Given the description of an element on the screen output the (x, y) to click on. 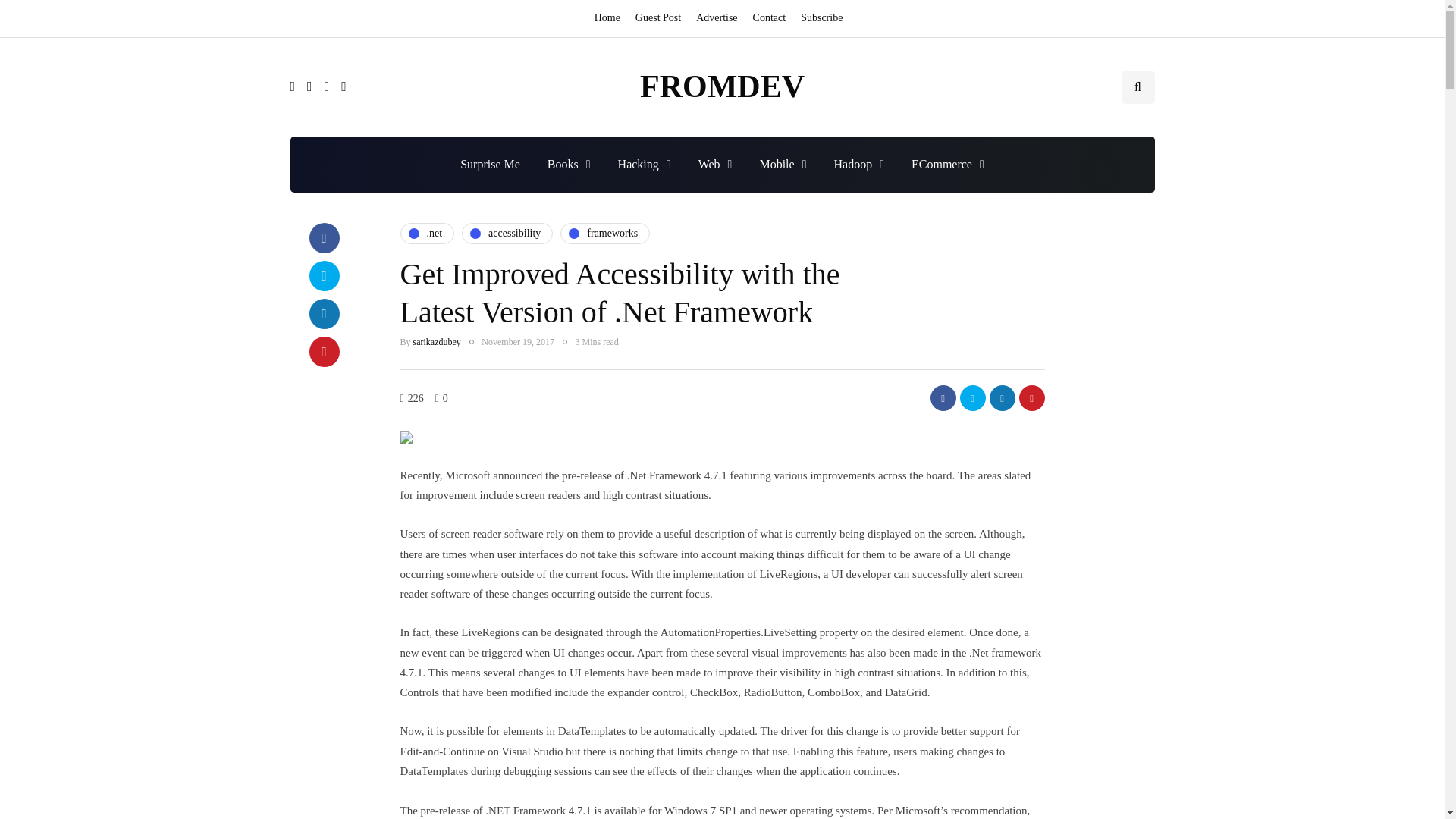
FROMDEV (722, 86)
Mobile (782, 163)
Guest Post (657, 18)
Surprise Me (490, 163)
Advertise (716, 18)
Books (569, 163)
Subscribe (821, 18)
Hacking (644, 163)
Contact (769, 18)
Hadoop (858, 163)
Web (714, 163)
Home (610, 18)
